Given the description of an element on the screen output the (x, y) to click on. 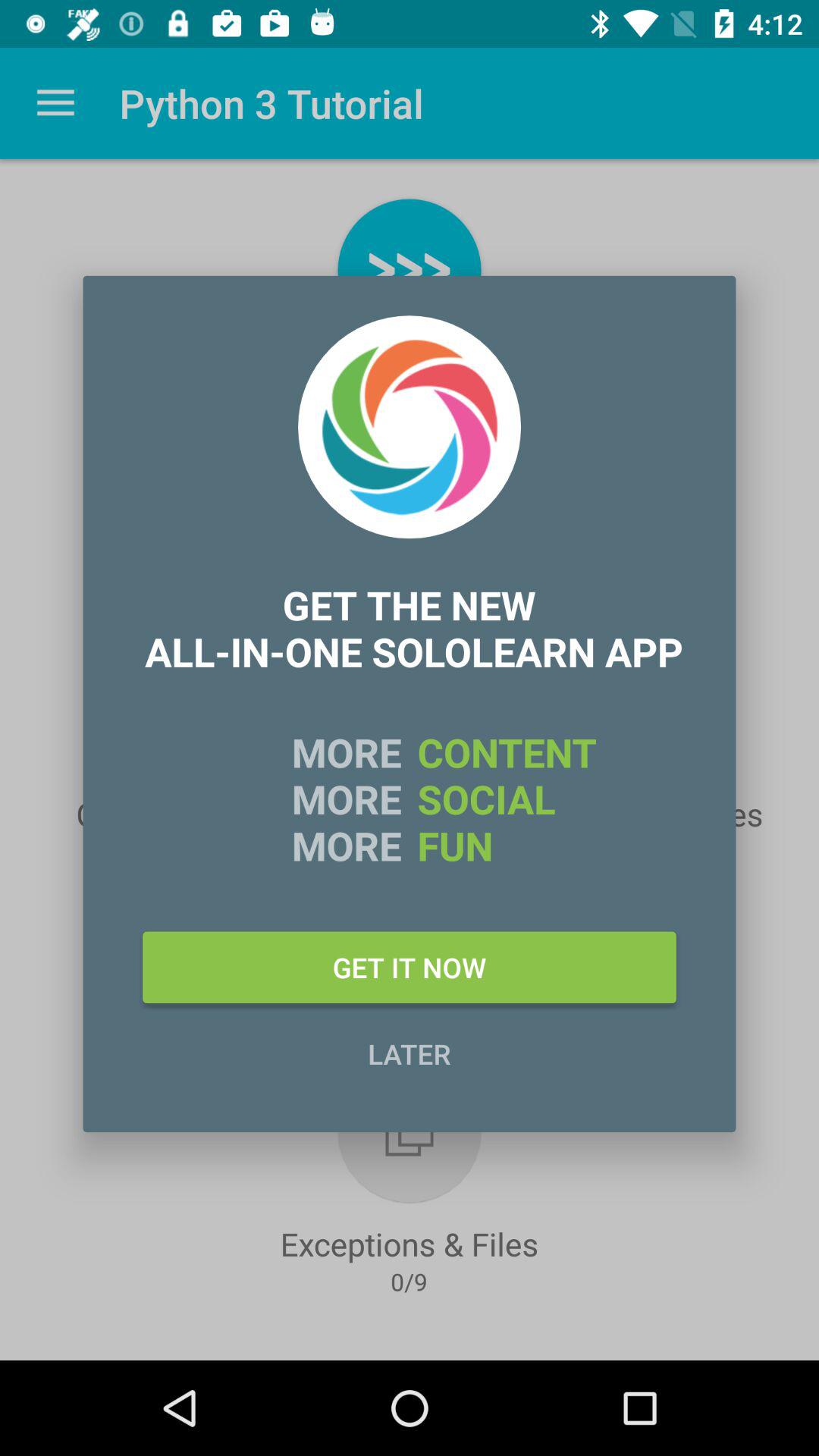
open the icon at the bottom (409, 1053)
